Given the description of an element on the screen output the (x, y) to click on. 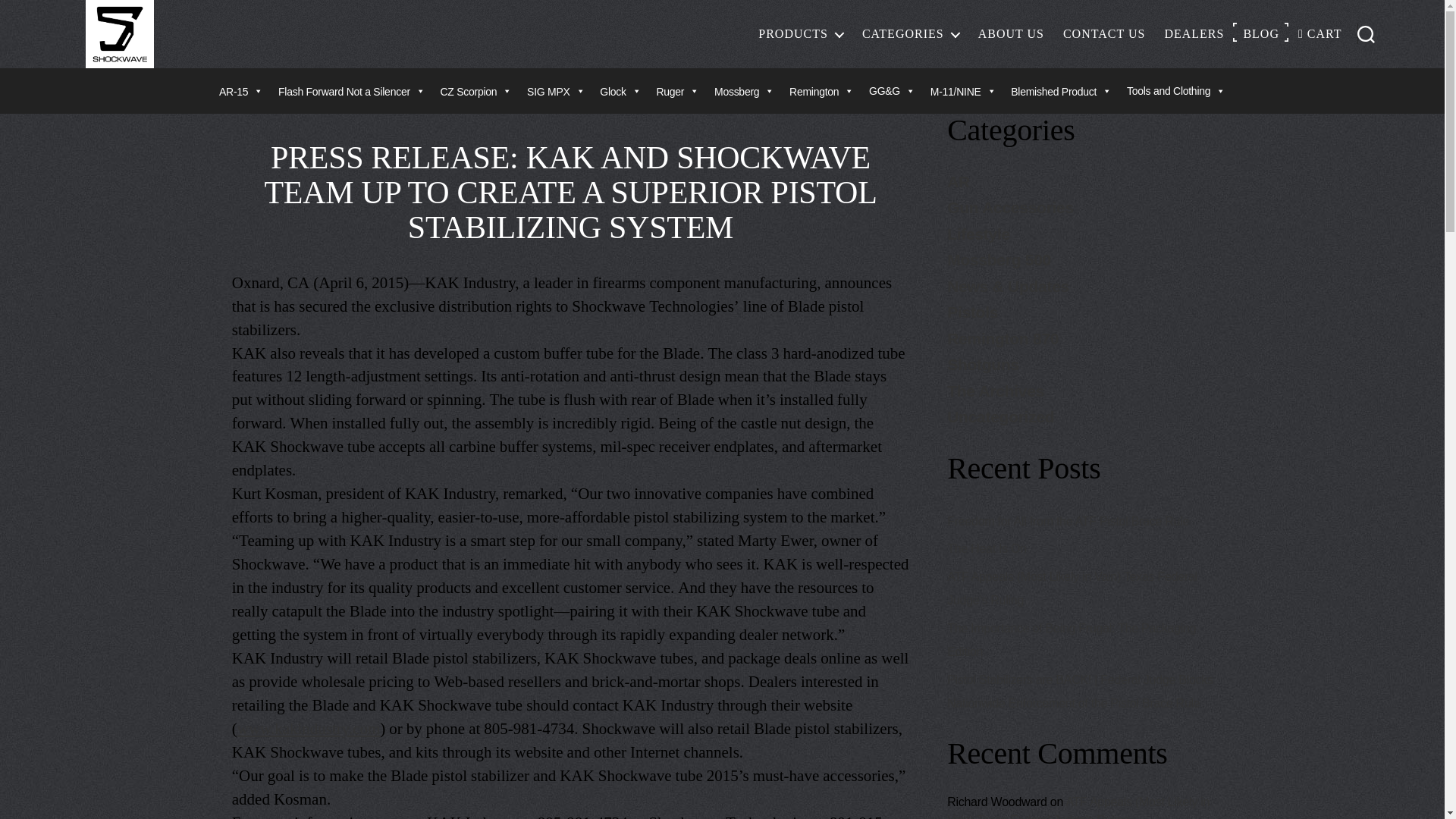
CART (1320, 33)
BLOG (1261, 33)
DEALERS (1193, 33)
PRODUCTS (800, 33)
CONTACT US (1103, 33)
CATEGORIES (910, 33)
ABOUT US (1010, 33)
